Given the description of an element on the screen output the (x, y) to click on. 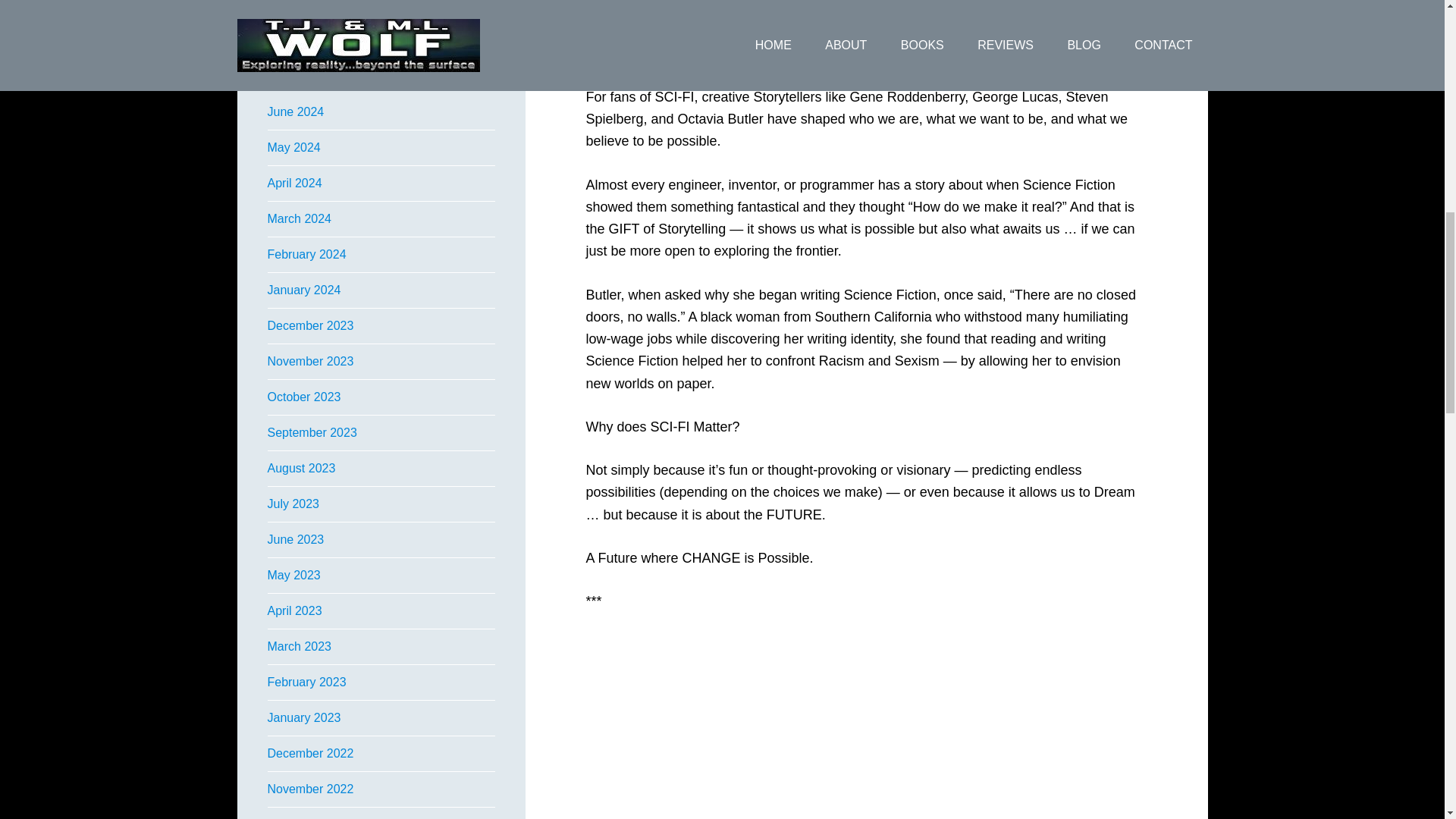
December 2022 (309, 753)
May 2023 (293, 574)
February 2024 (306, 254)
January 2023 (303, 717)
April 2024 (293, 182)
March 2024 (298, 218)
June 2024 (294, 111)
May 2024 (293, 146)
March 2023 (298, 645)
October 2023 (303, 396)
January 2024 (303, 289)
November 2022 (309, 788)
April 2023 (293, 610)
June 2023 (294, 539)
